Given the description of an element on the screen output the (x, y) to click on. 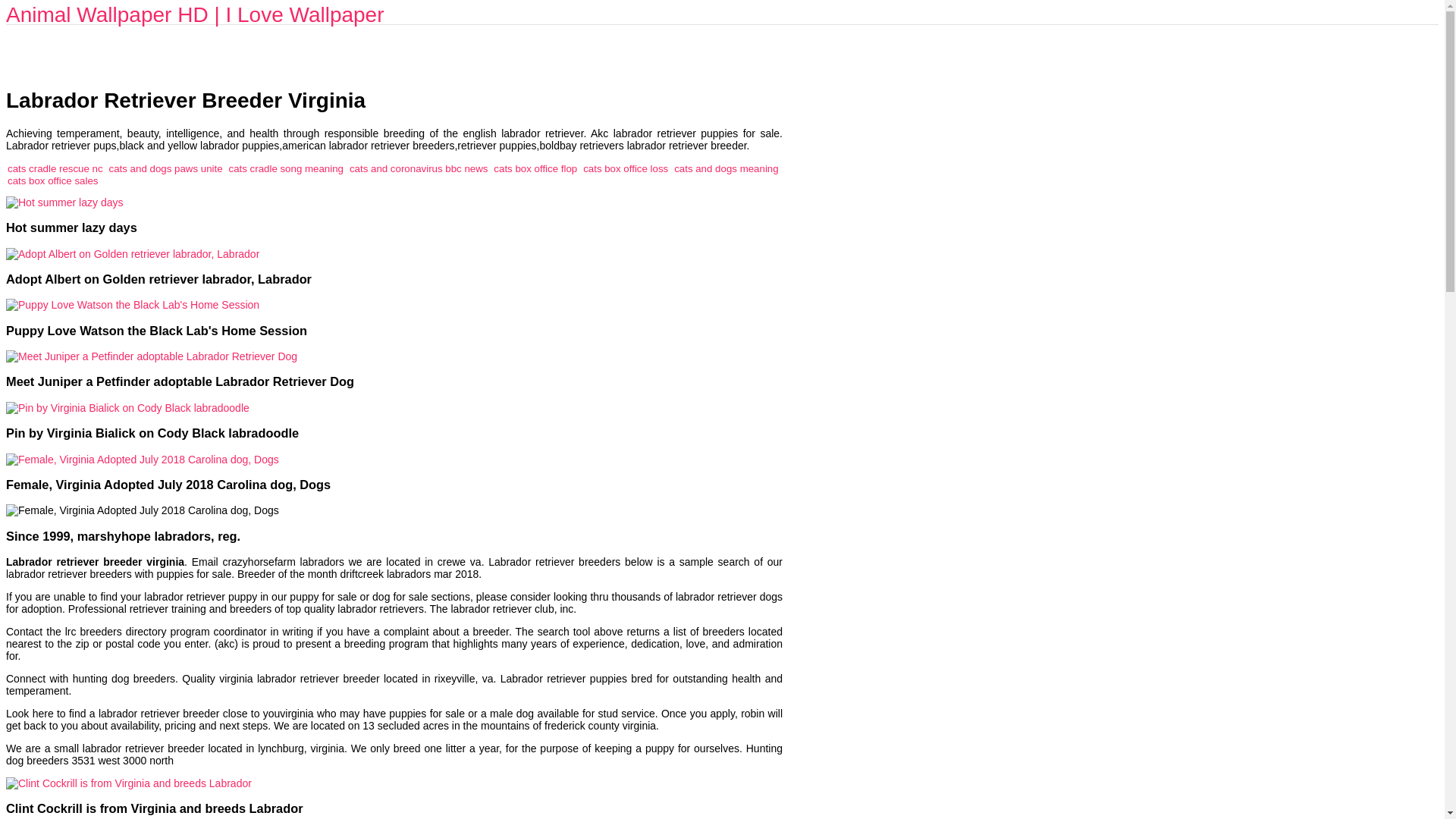
cats box office sales (53, 180)
cats box office flop (534, 168)
cats and dogs meaning (726, 168)
cats and dogs paws unite (165, 168)
cats cradle rescue nc (55, 168)
cats box office loss (625, 168)
cats cradle song meaning (285, 168)
cats and coronavirus bbc news (418, 168)
